Given the description of an element on the screen output the (x, y) to click on. 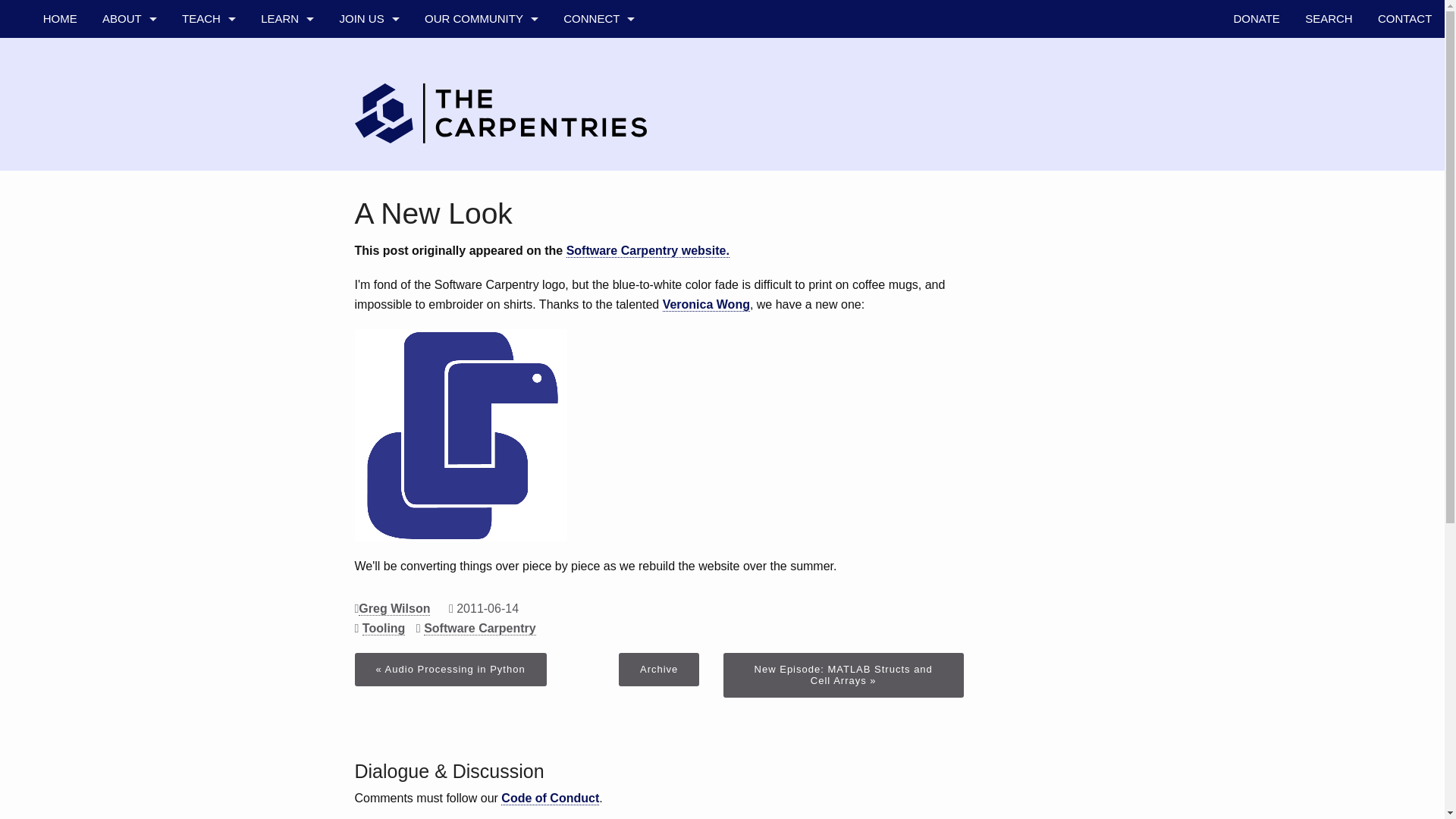
OUR WORKSHOPS (286, 56)
BECOME A SPONSOR (369, 170)
FOR INSTRUCTORS (207, 284)
ANNUAL REPORTS (128, 284)
LEARN (286, 18)
SUPPORTERS (128, 208)
OUR IMPACT (286, 208)
LIBRARY CARPENTRY LESSONS (207, 170)
WHAT IS A WORKSHOP? (207, 56)
COMMUNITY LESSONS (207, 208)
